Given the description of an element on the screen output the (x, y) to click on. 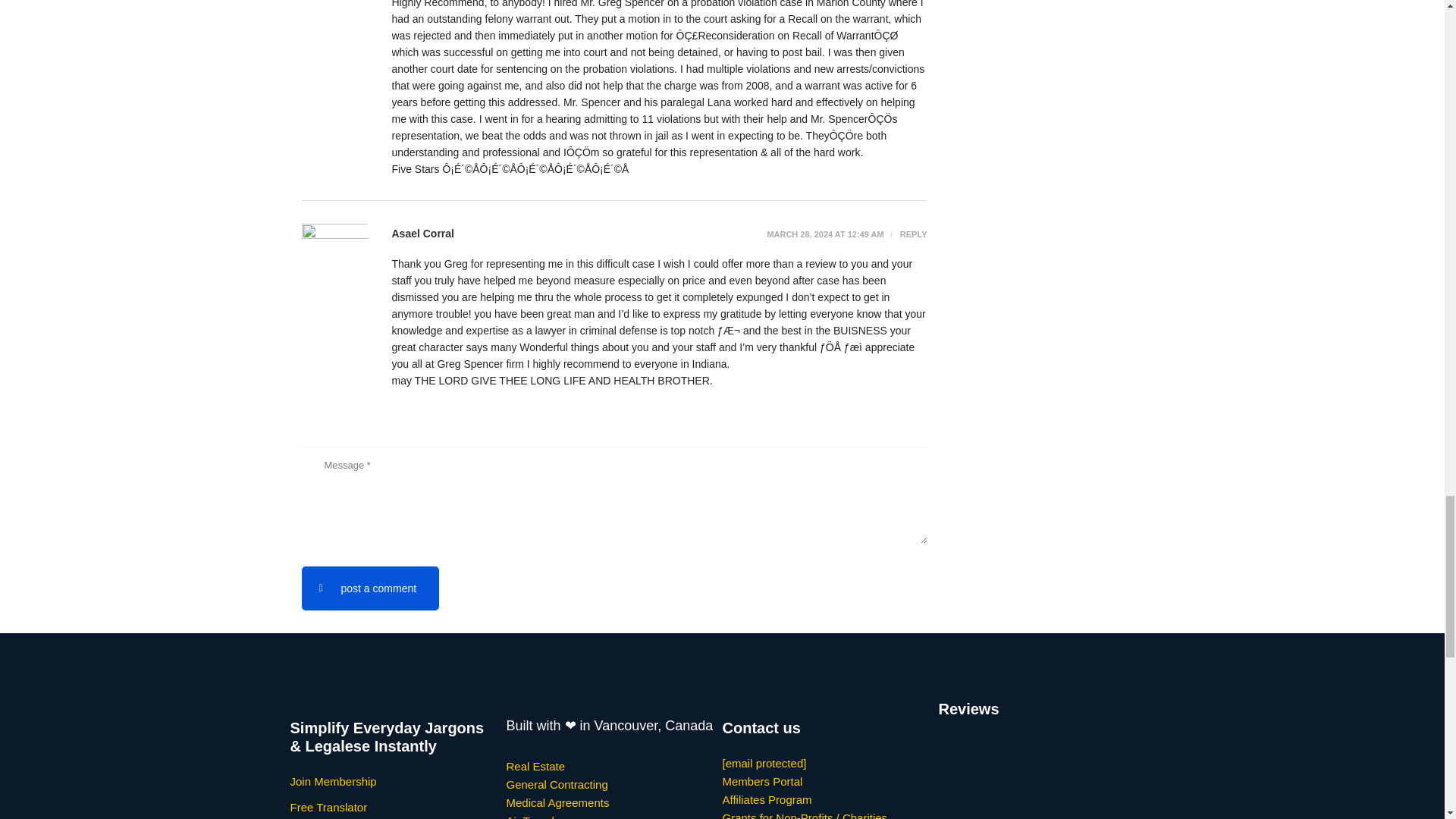
MARCH 28, 2024 AT 12:49 AM (825, 234)
REPLY (906, 234)
Asael Corral (421, 233)
